Given the description of an element on the screen output the (x, y) to click on. 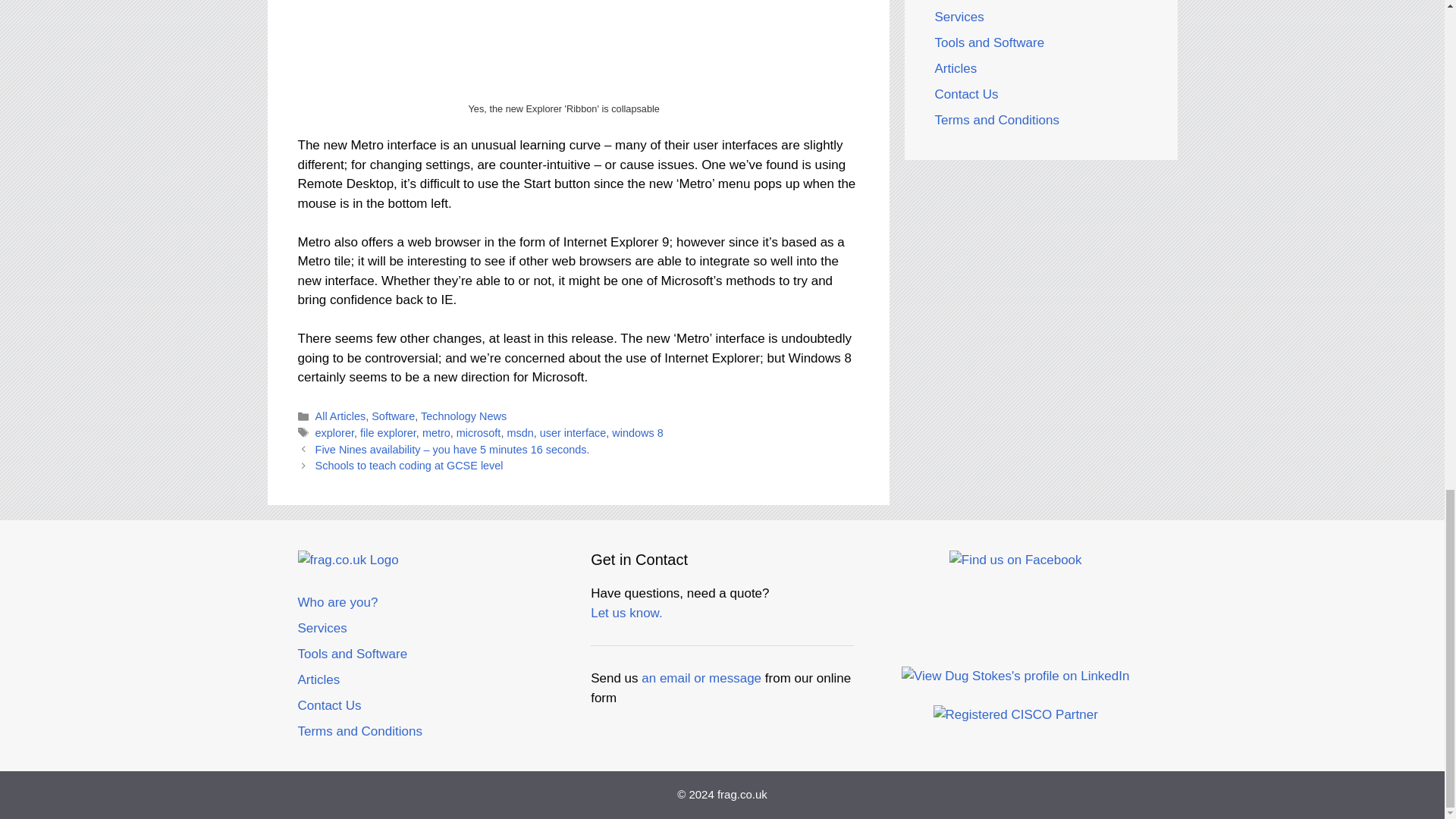
All Articles (340, 416)
Software (392, 416)
msdn (519, 432)
Schools to teach coding at GCSE level (409, 465)
Technology News (463, 416)
windows 8 (636, 432)
PHP and Web developer (1016, 627)
microsoft (478, 432)
explorer (334, 432)
